Given the description of an element on the screen output the (x, y) to click on. 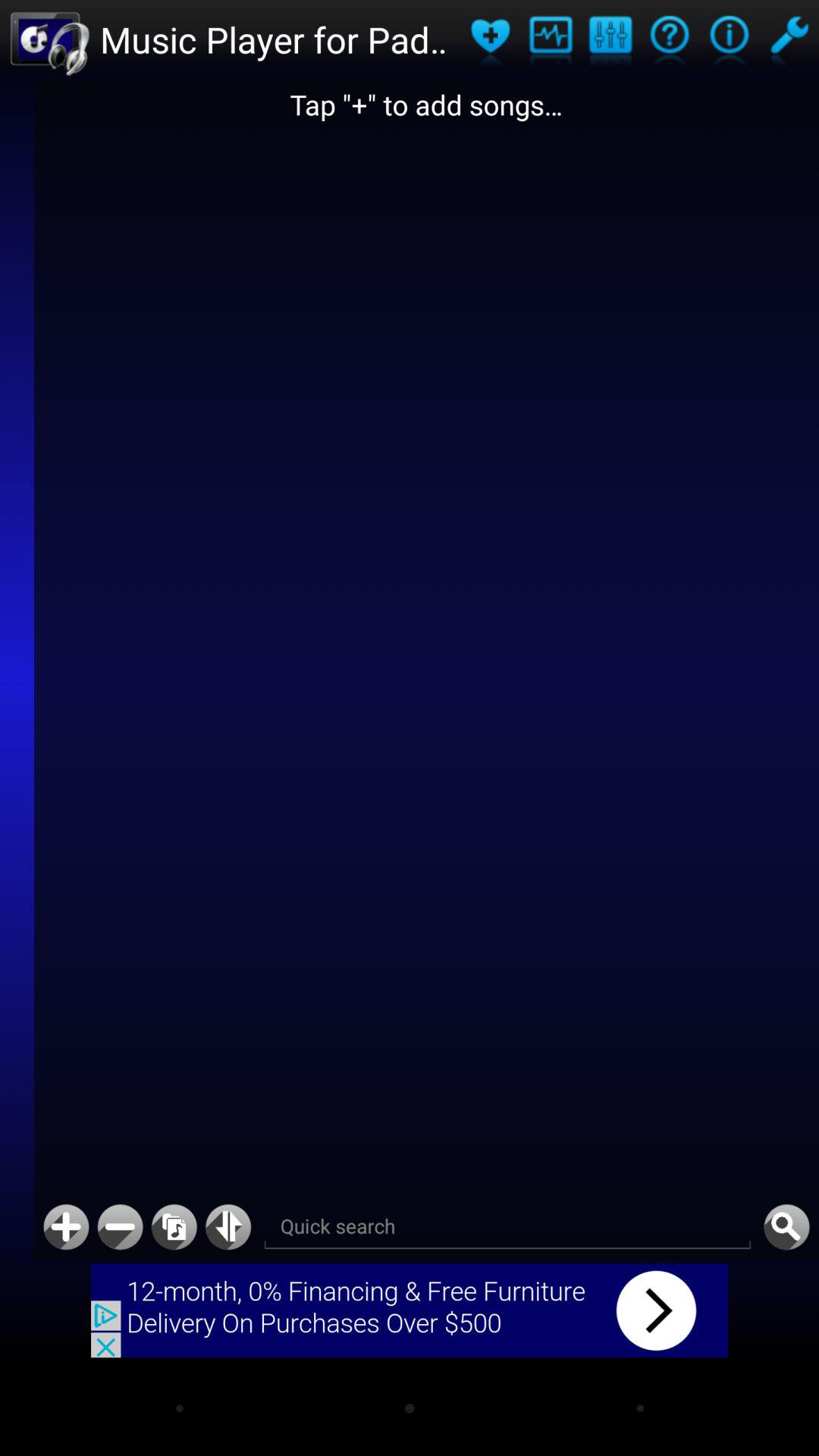
search (786, 1226)
